Given the description of an element on the screen output the (x, y) to click on. 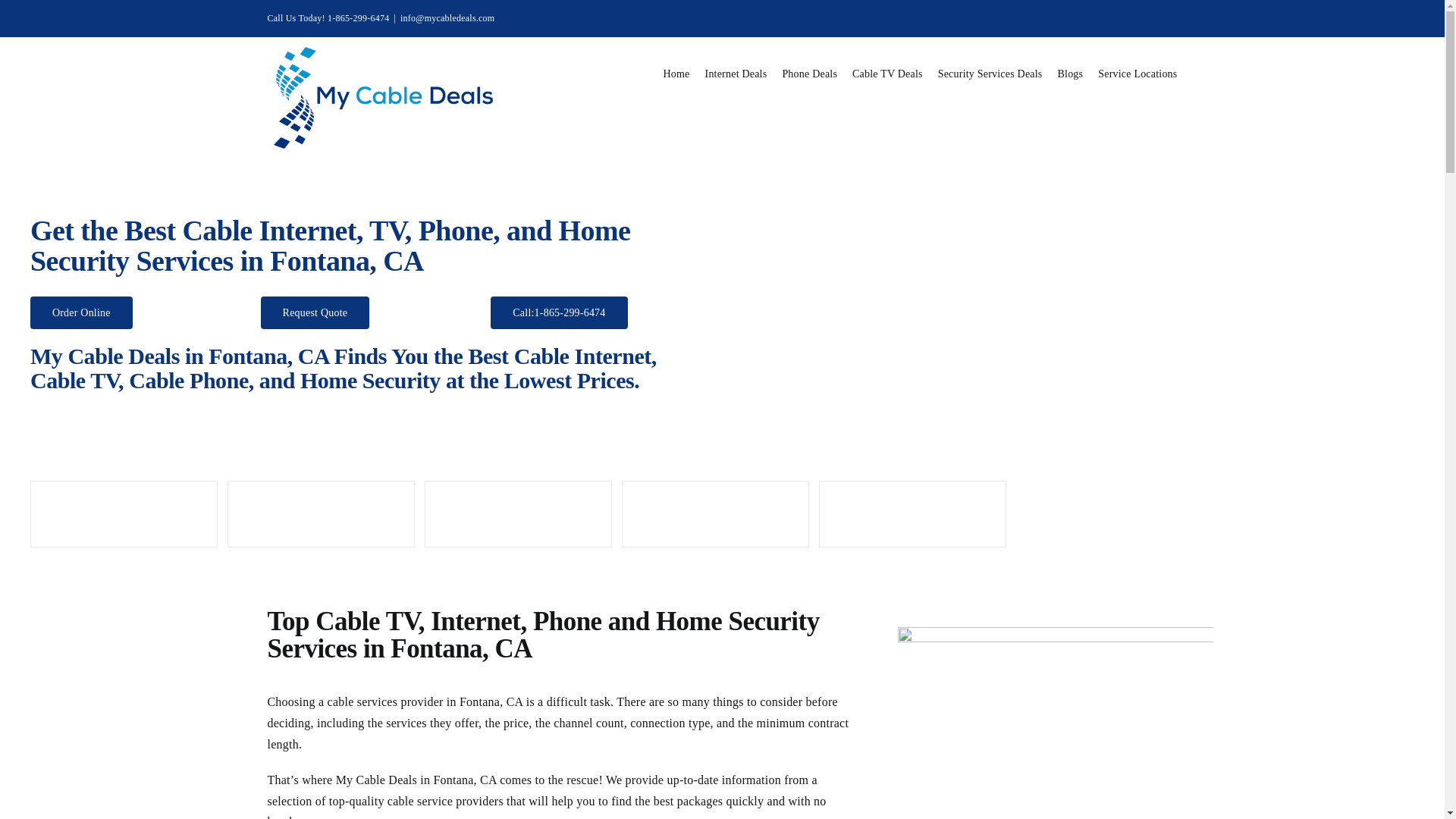
Order Online (81, 312)
Security Services Deals (989, 72)
Request Quote (314, 312)
Call:1-865-299-6474 (558, 312)
Cable TV Deals (887, 72)
Service Locations (1136, 72)
TV Internet Phone (1055, 723)
